Given the description of an element on the screen output the (x, y) to click on. 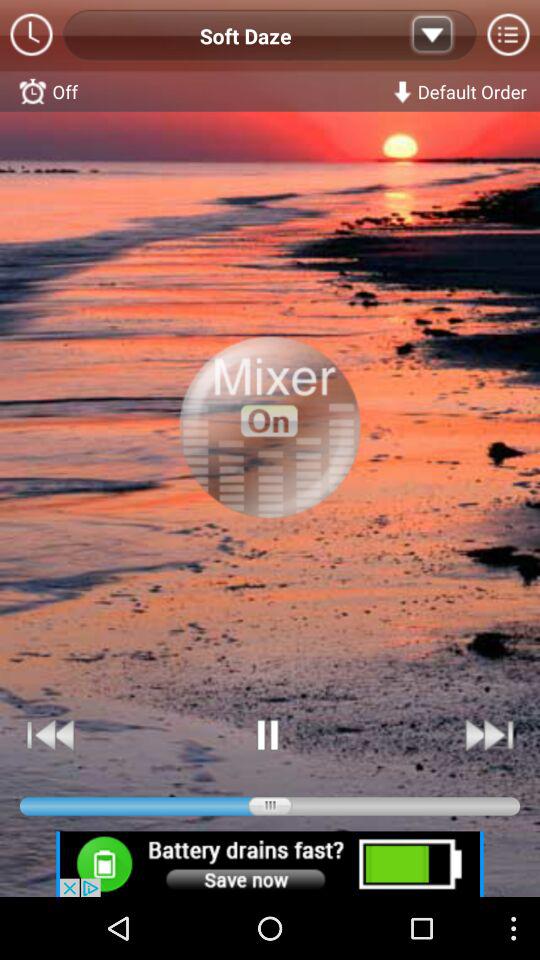
rewind (51, 734)
